Given the description of an element on the screen output the (x, y) to click on. 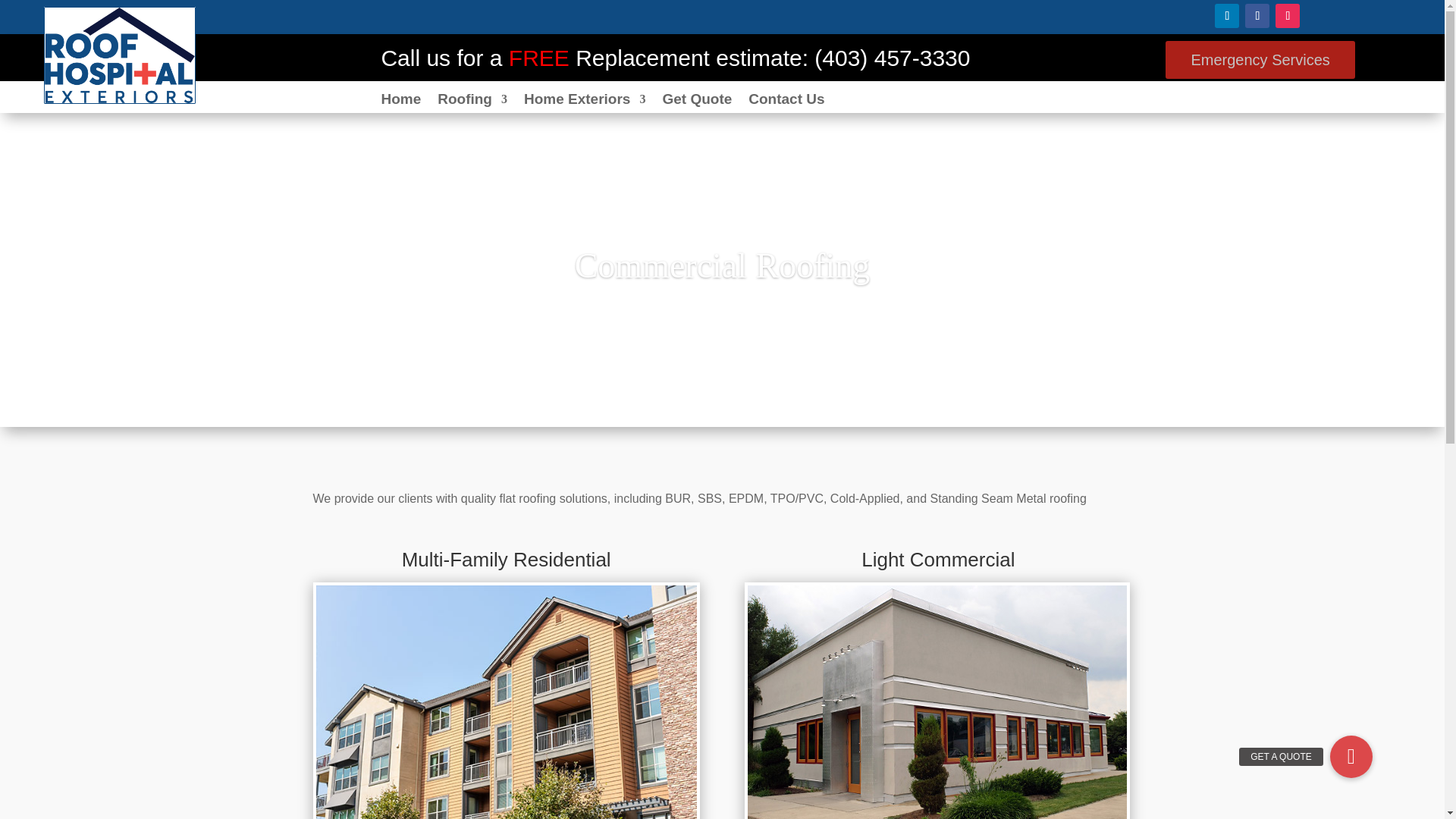
RHE-Logo (120, 55)
Follow on Instagram (1287, 15)
commercial-roofing-1 (937, 702)
Home (400, 102)
Follow on LinkedIn (1226, 15)
Emergency Services (1260, 59)
Contact Us (786, 102)
Roofing (472, 102)
Get Quote (697, 102)
GET A QUOTE (1351, 756)
Follow on Facebook (1256, 15)
Home Exteriors (584, 102)
